Given the description of an element on the screen output the (x, y) to click on. 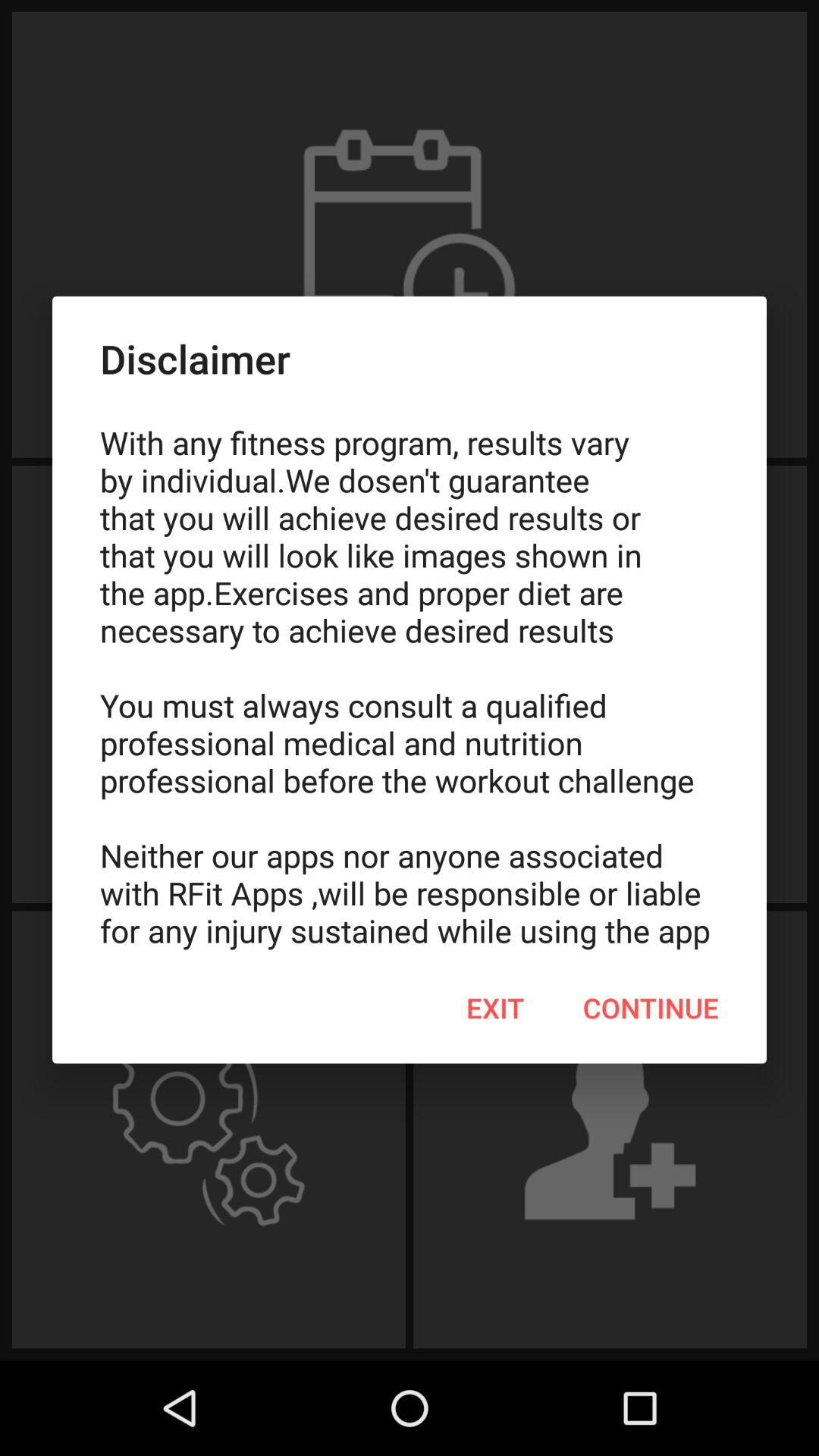
choose icon below with any fitness icon (650, 1007)
